Given the description of an element on the screen output the (x, y) to click on. 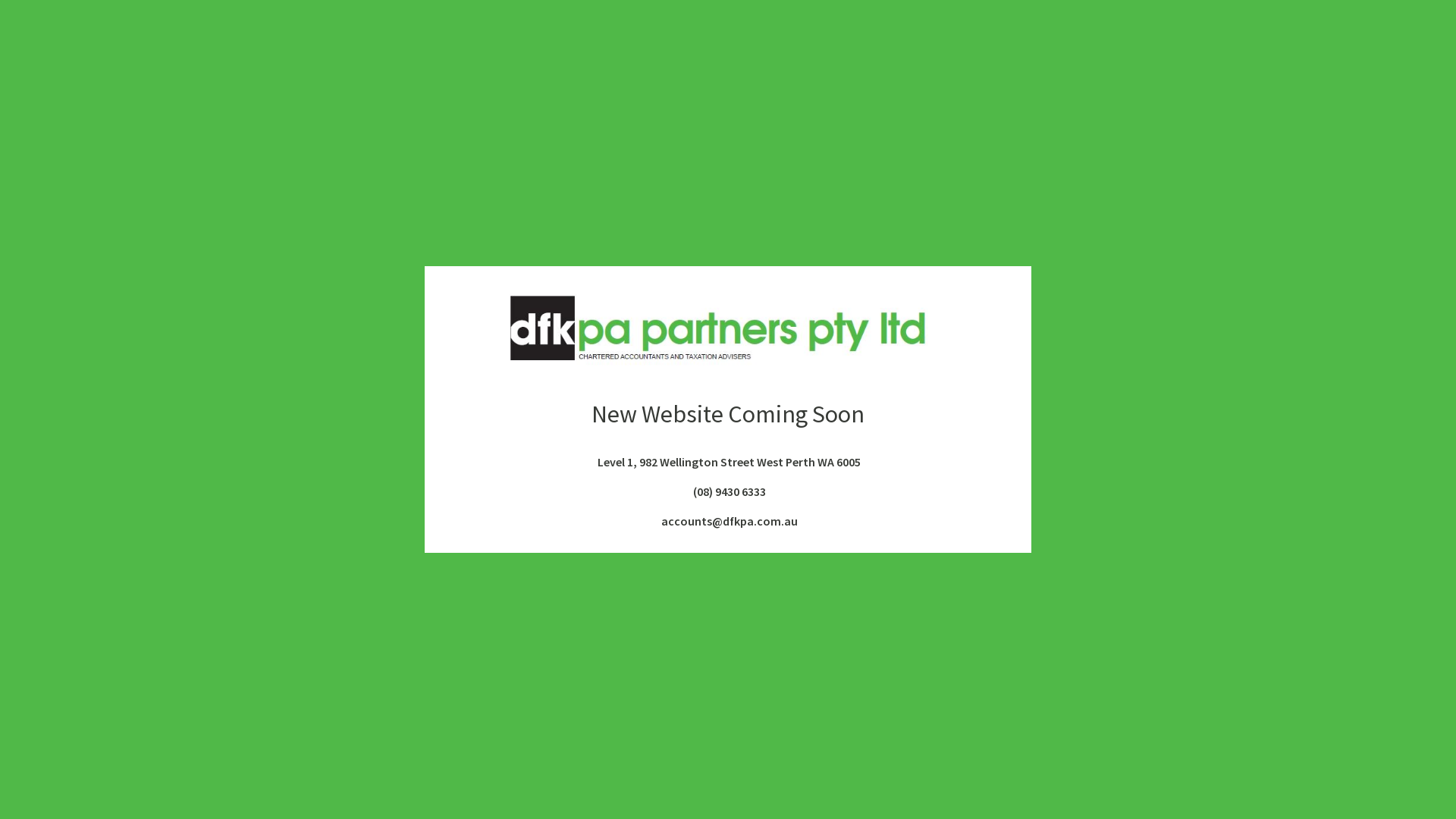
Level 1, 982 Wellington Street West Perth WA 6005 Element type: text (727, 461)
accounts@dfkpa.com.au Element type: text (727, 520)
(08) 9430 6333 Element type: text (727, 490)
